Given the description of an element on the screen output the (x, y) to click on. 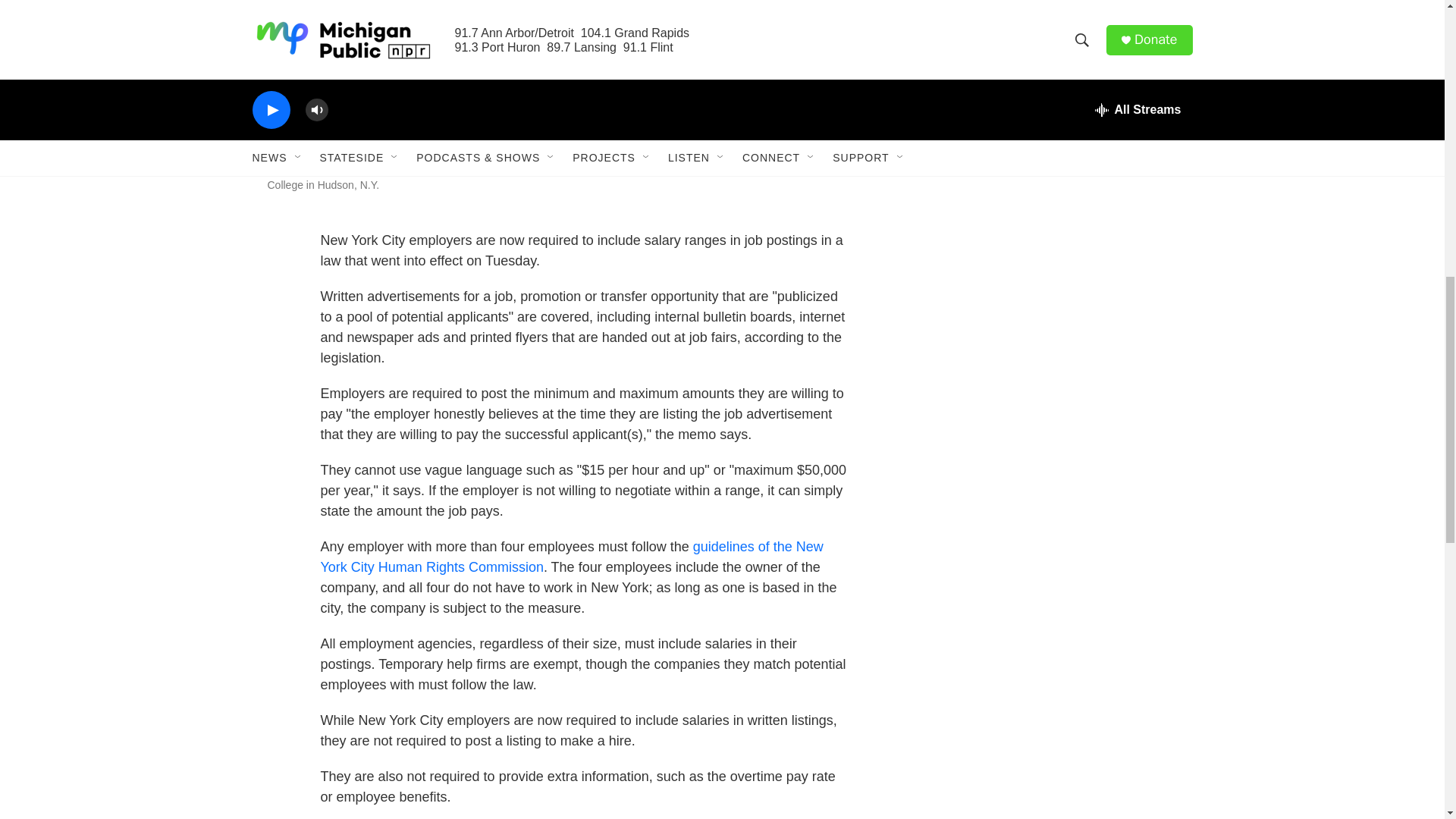
3rd party ad content (1062, 313)
3rd party ad content (1062, 552)
